Given the description of an element on the screen output the (x, y) to click on. 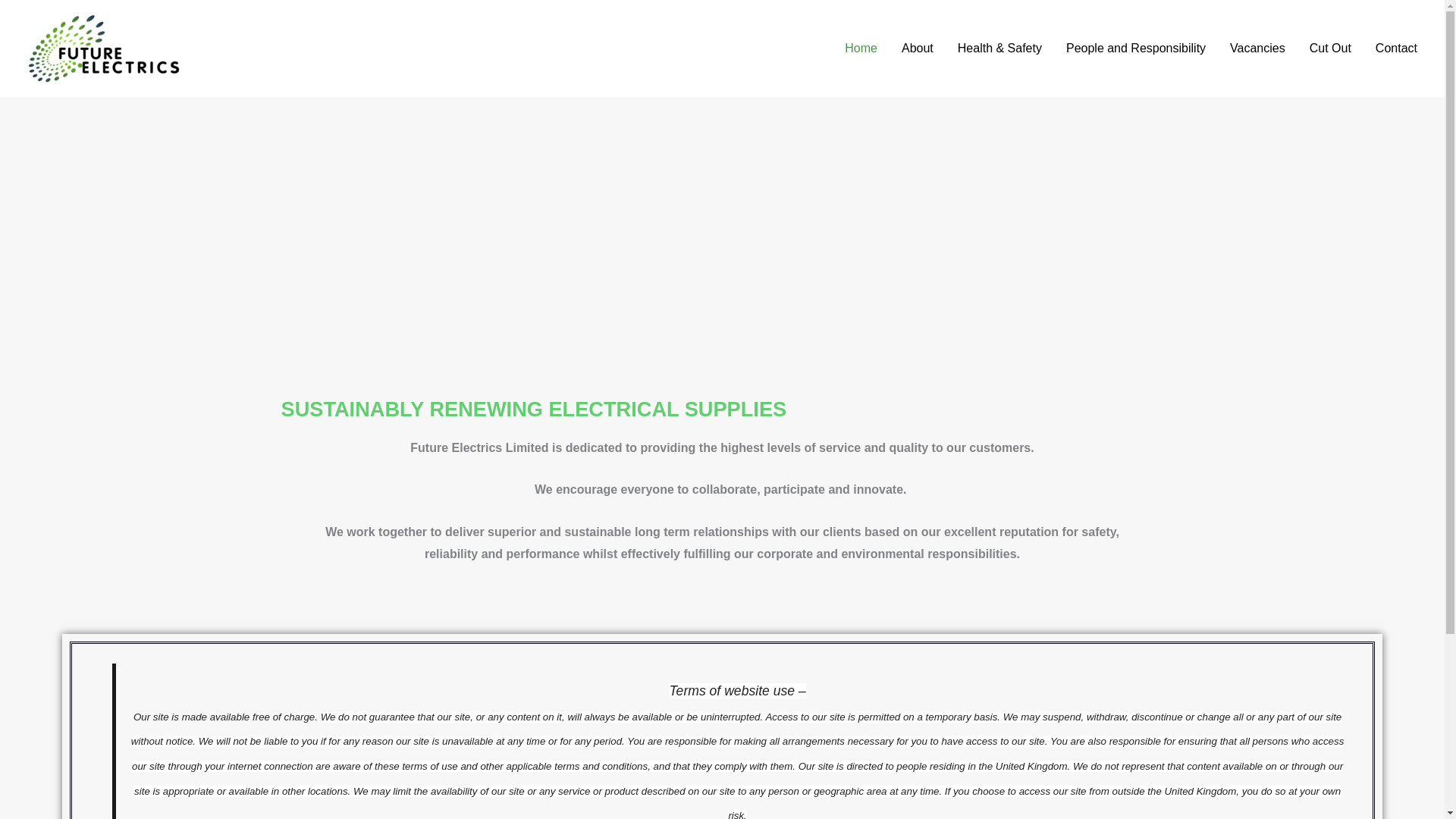
Home (860, 48)
Cut Out (1329, 48)
About (916, 48)
Vacancies (1257, 48)
Contact (1395, 48)
People and Responsibility (1135, 48)
